Given the description of an element on the screen output the (x, y) to click on. 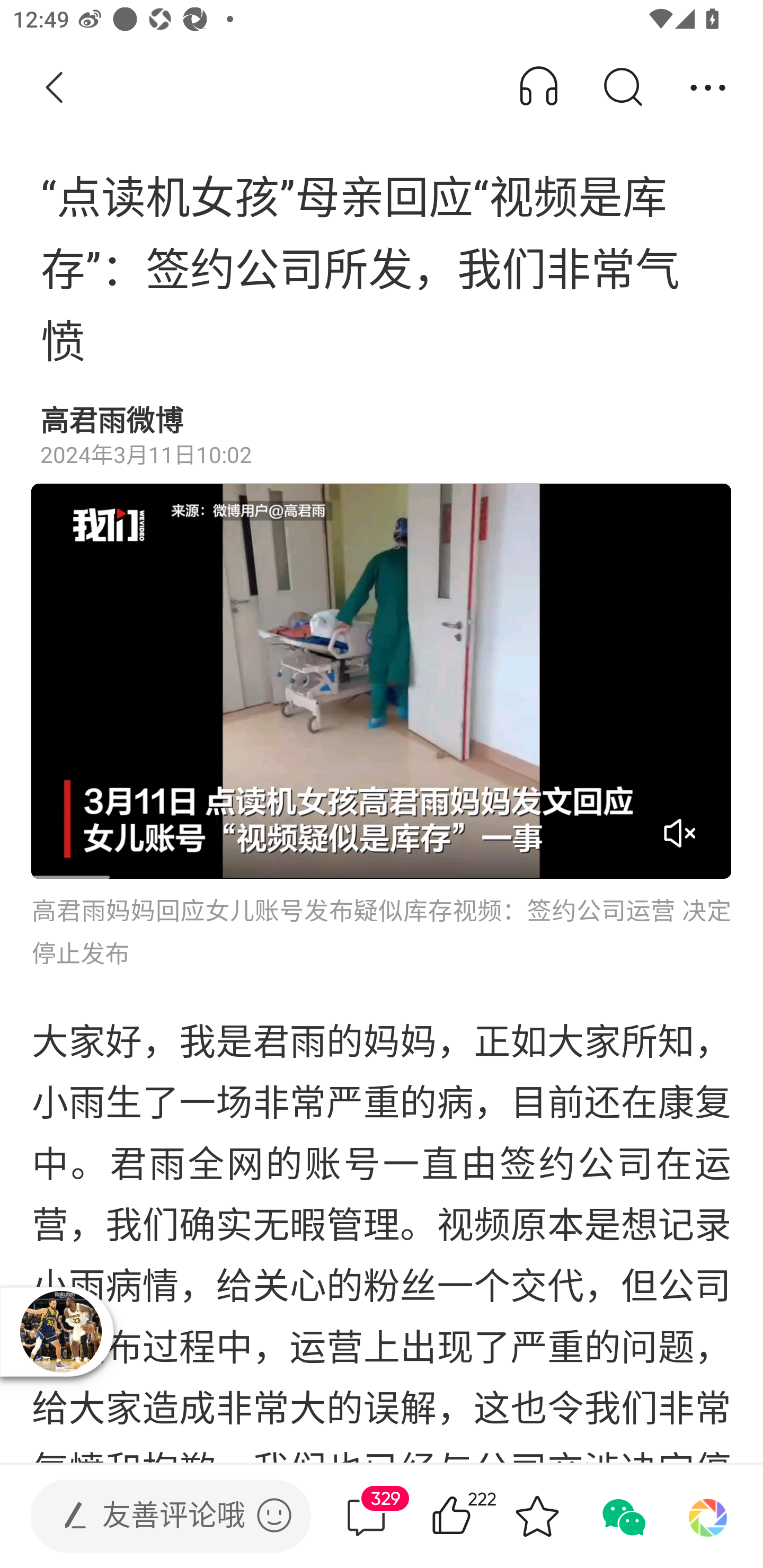
搜索  (622, 87)
分享  (707, 87)
 返回 (54, 87)
高君雨微博 2024年3月11日10:02 (381, 436)
00:29 (381, 681)
音量开关 (679, 832)
播放器 (60, 1331)
发表评论  友善评论哦 发表评论  (155, 1516)
329评论  329 评论 (365, 1516)
222赞 (476, 1516)
收藏  (536, 1516)
分享到微信  (622, 1516)
分享到朋友圈 (707, 1516)
 (274, 1515)
